Given the description of an element on the screen output the (x, y) to click on. 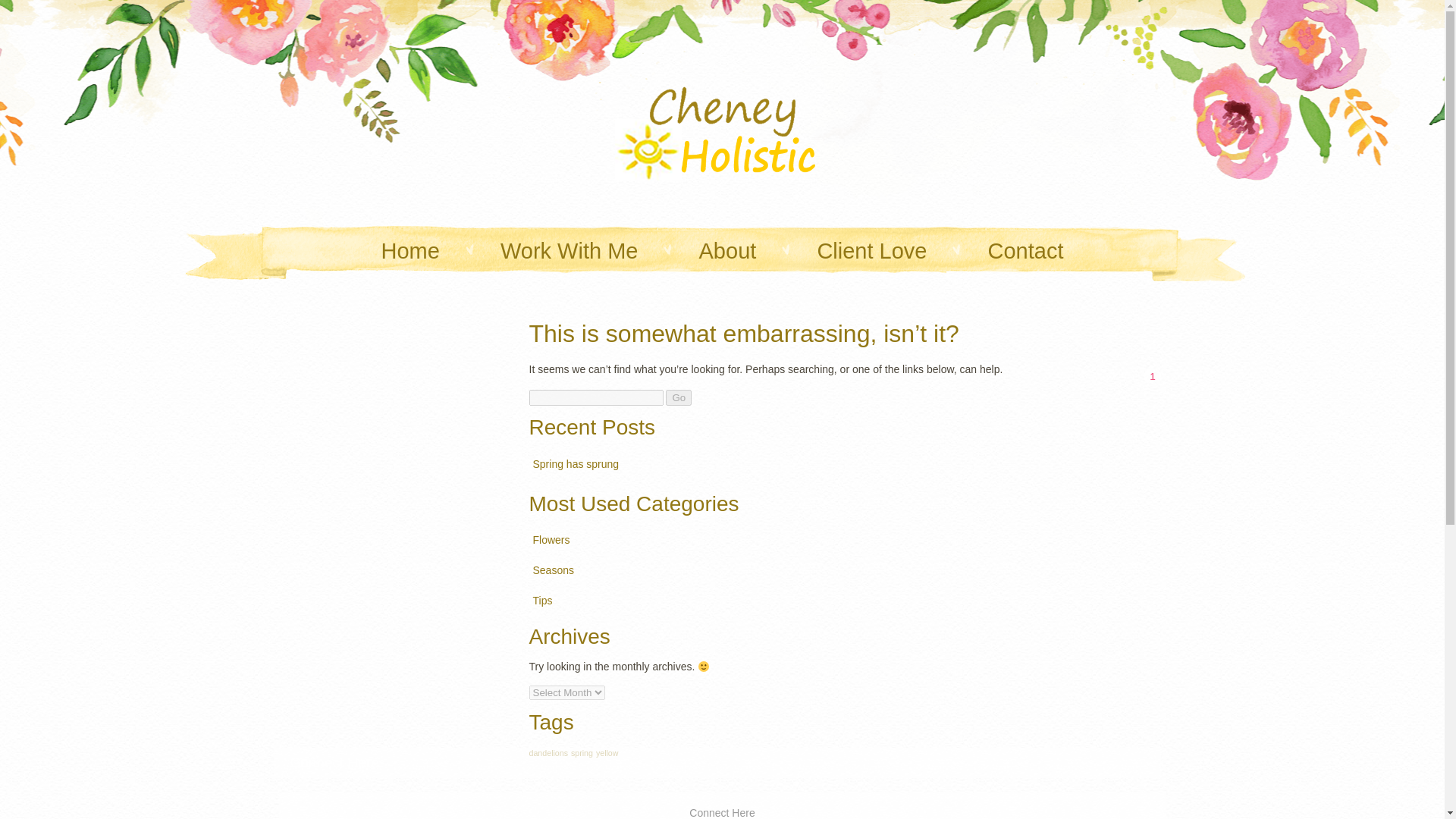
Work With Me (569, 251)
Go (542, 601)
Client Love (678, 397)
Go (871, 251)
Contact (678, 397)
dandelions (551, 540)
About (1026, 251)
